Given the description of an element on the screen output the (x, y) to click on. 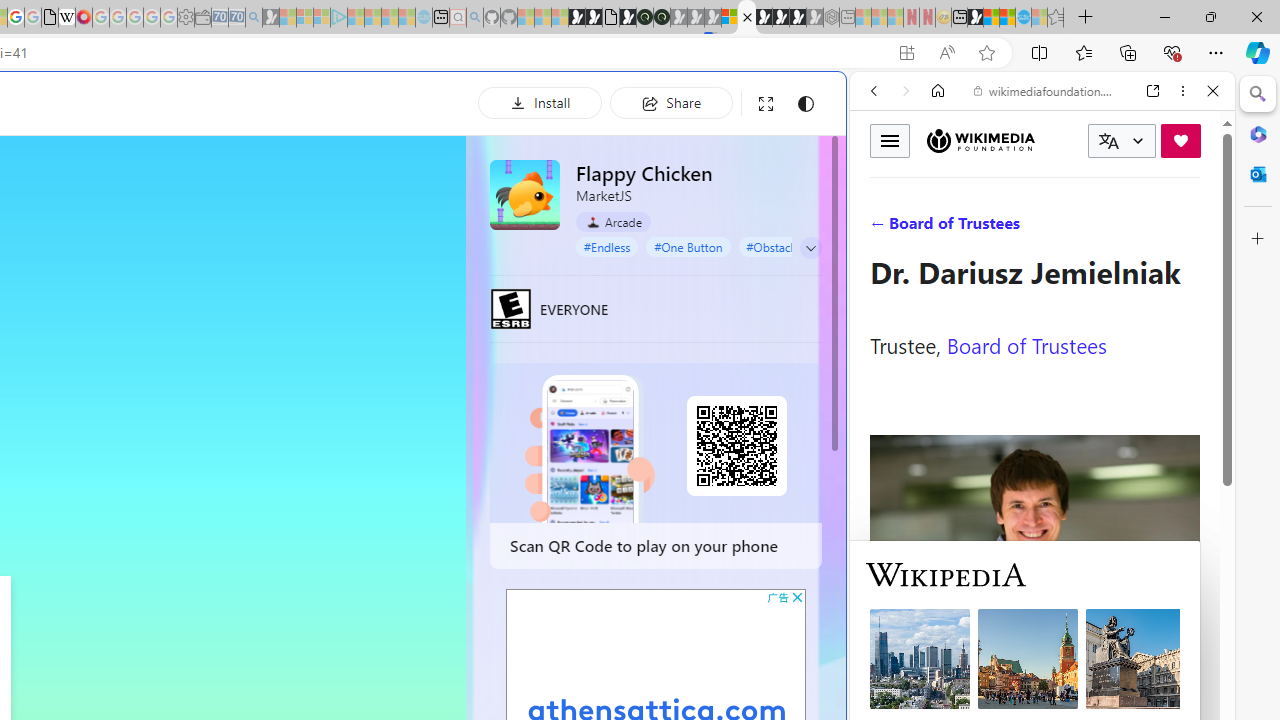
Change to dark mode (805, 103)
Play Zoo Boom in your browser | Games from Microsoft Start (593, 17)
Class: control (811, 248)
Search Filter, VIDEOS (1006, 228)
Wallet - Sleeping (202, 17)
Full screen (765, 103)
Tabs you've opened (276, 265)
Toggle menu (890, 140)
